Given the description of an element on the screen output the (x, y) to click on. 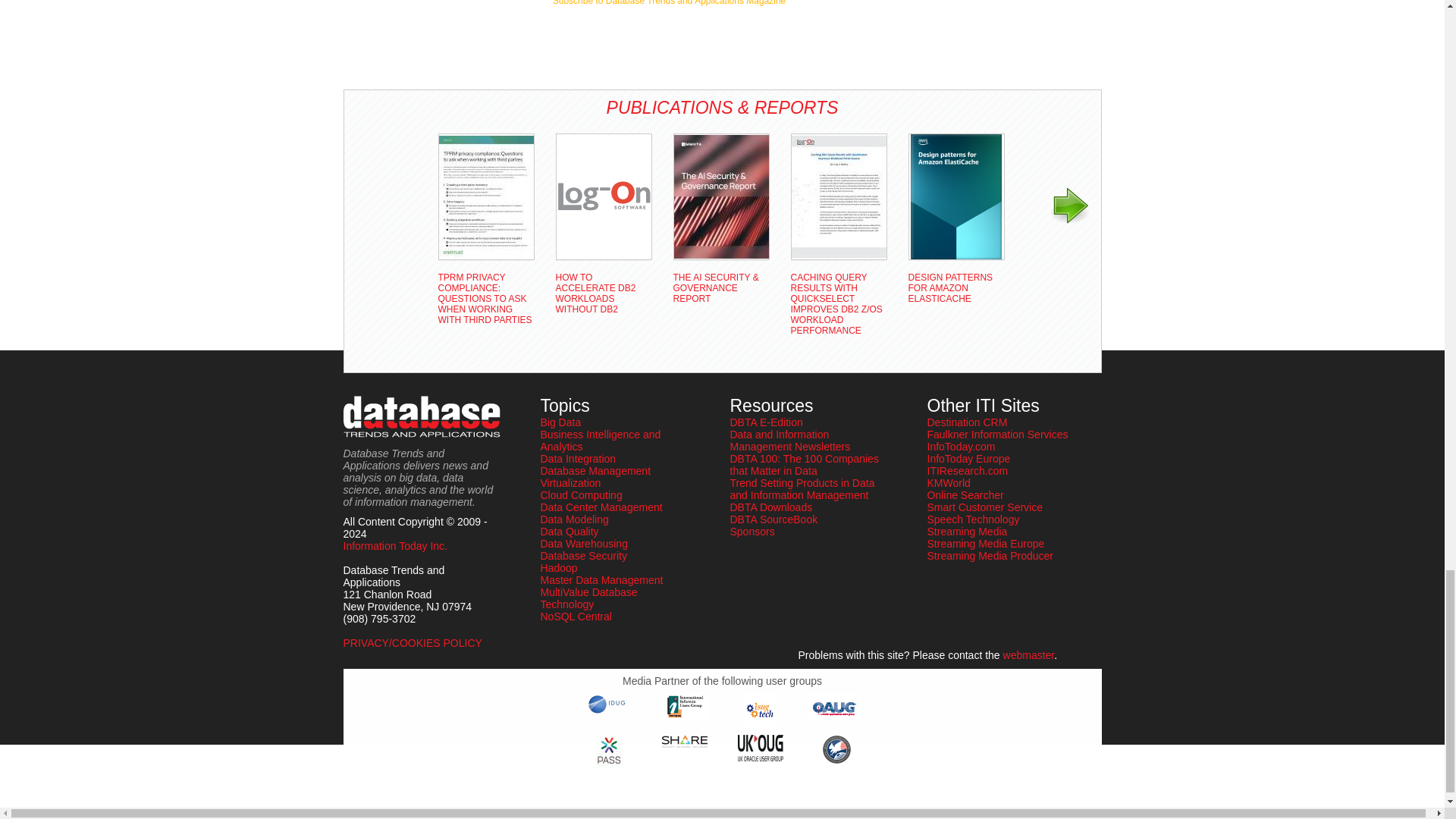
3rd party ad content (668, 35)
